Given the description of an element on the screen output the (x, y) to click on. 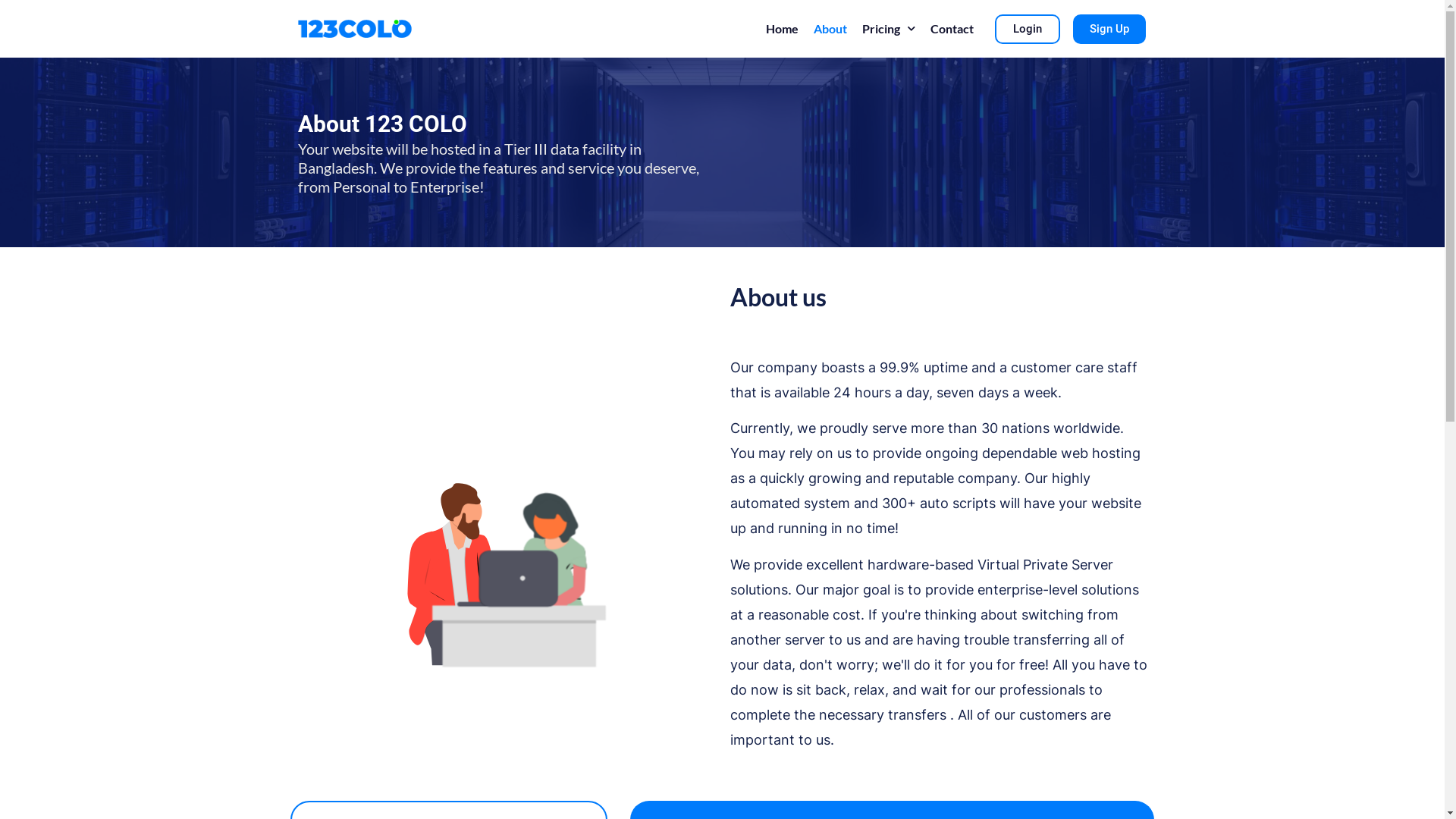
Home Element type: text (782, 28)
About Element type: text (830, 28)
Login Element type: text (1027, 28)
Contact Element type: text (951, 28)
Pricing Element type: text (888, 28)
Sign Up Element type: text (1109, 28)
